Given the description of an element on the screen output the (x, y) to click on. 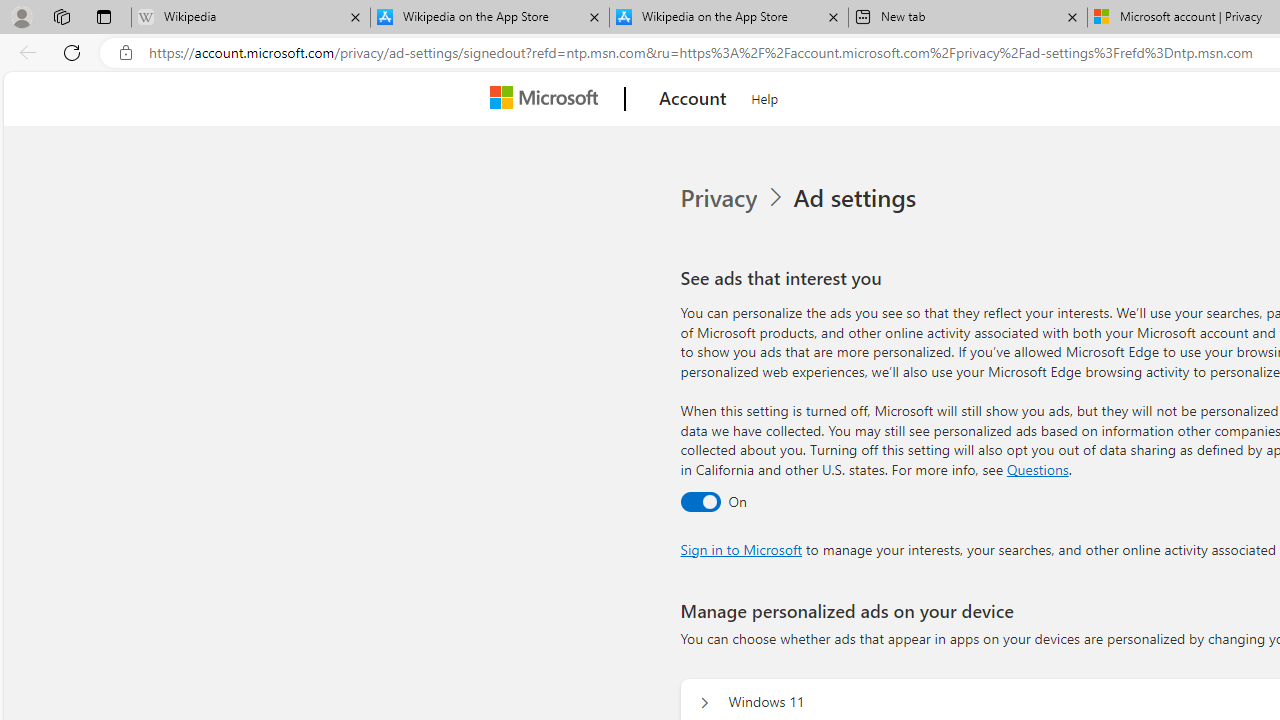
Account (692, 99)
Sign in to Microsoft (740, 548)
Ad settings toggle (699, 501)
Ad settings (858, 197)
Manage personalized ads on your device Windows 11 (704, 702)
Go to Questions section (1037, 468)
